Given the description of an element on the screen output the (x, y) to click on. 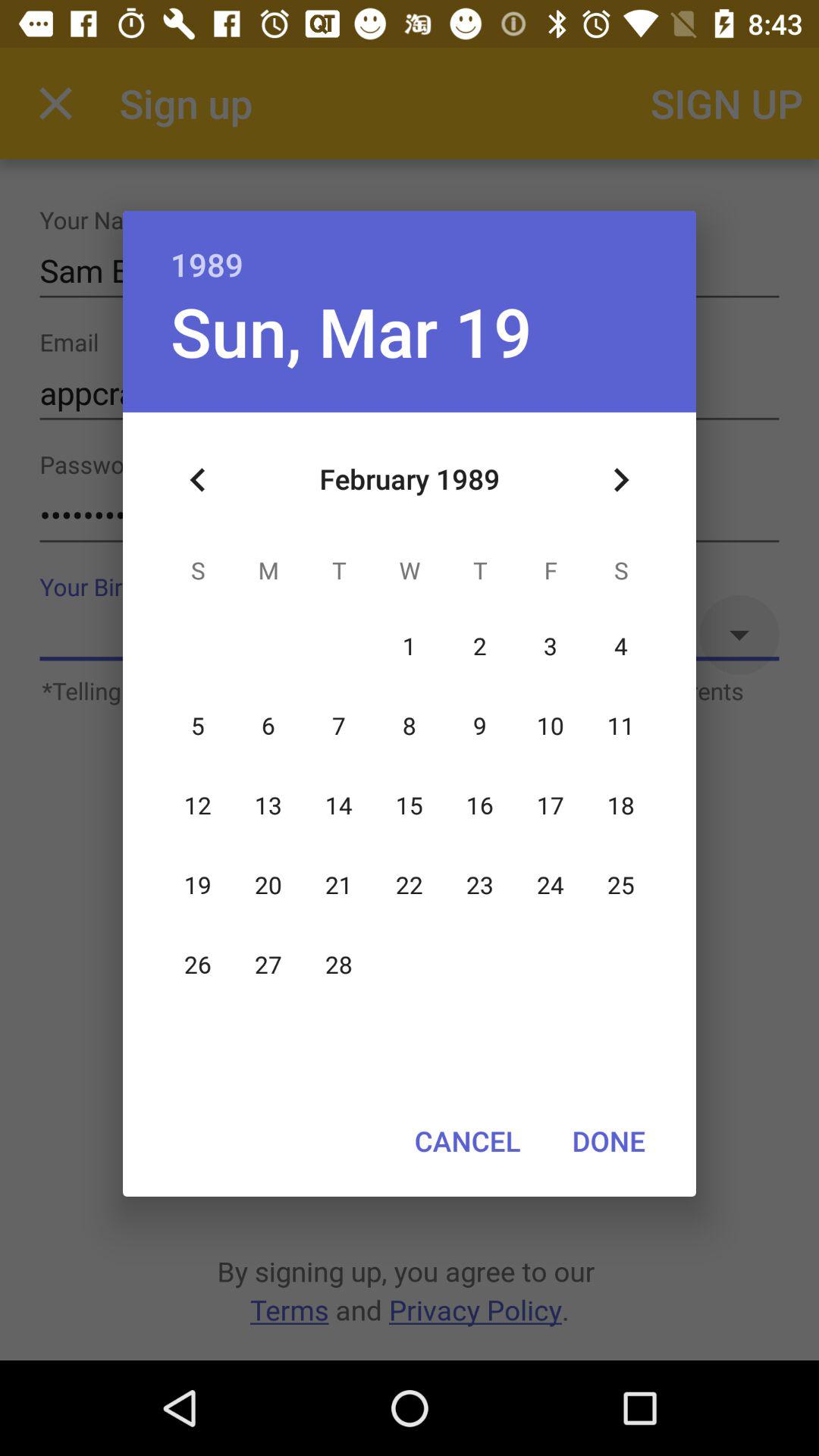
open the cancel item (467, 1140)
